Given the description of an element on the screen output the (x, y) to click on. 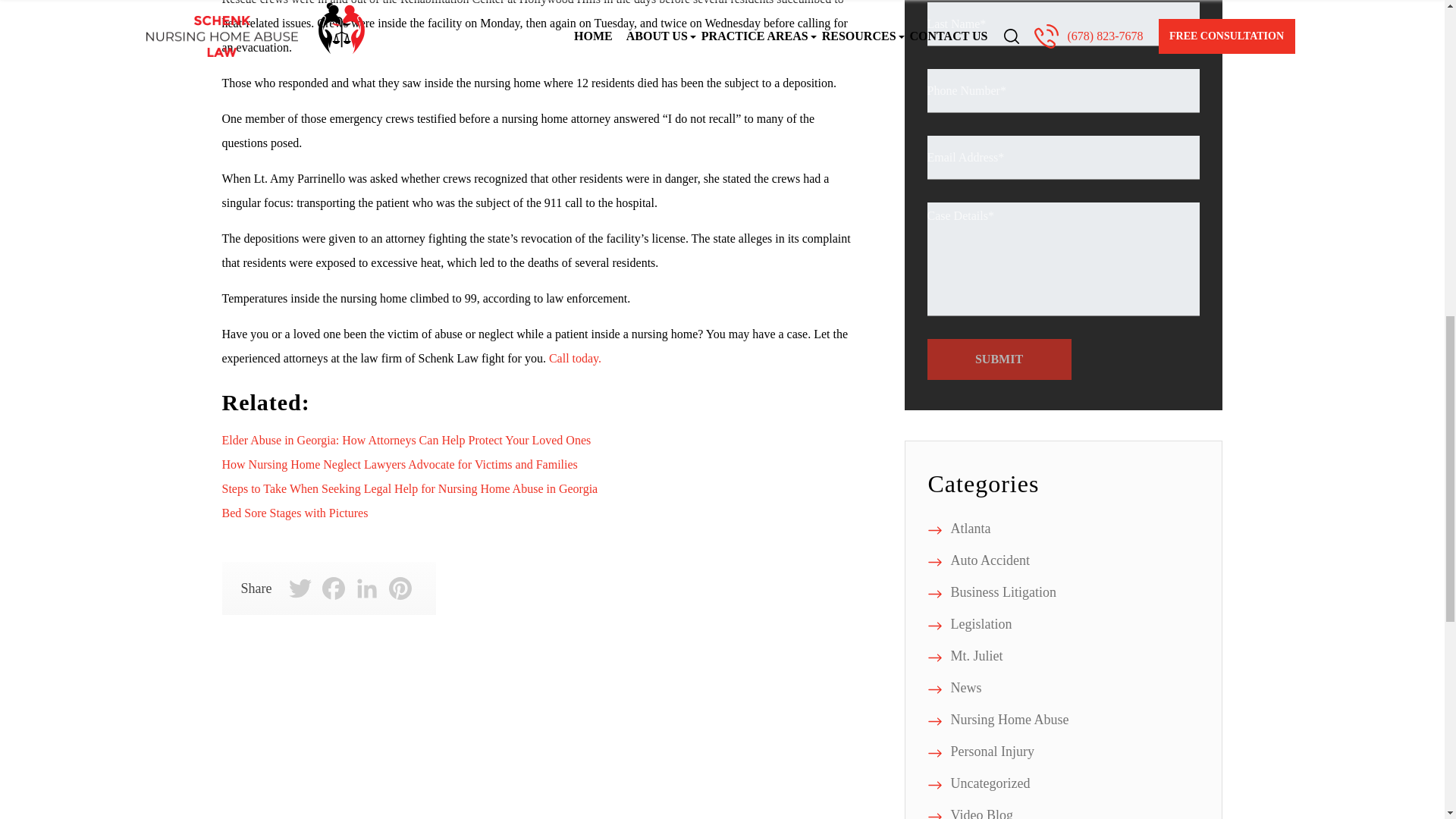
Bed Sore Stages with Pictures (294, 512)
Submit (998, 359)
